Given the description of an element on the screen output the (x, y) to click on. 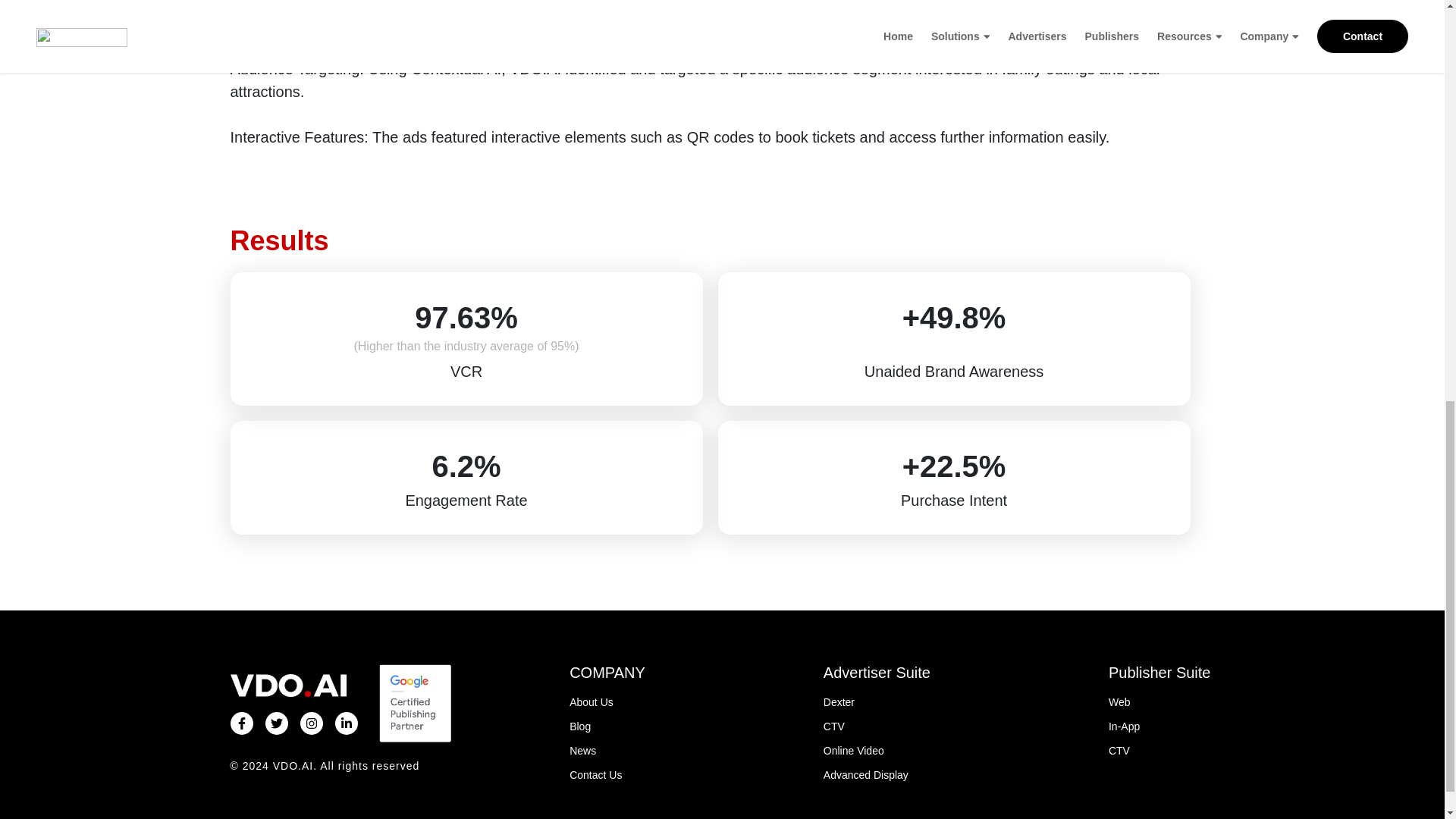
CTV (1159, 750)
News (607, 750)
About Us (607, 701)
In-App (1159, 726)
CTV (877, 726)
Dexter (877, 701)
Advanced Display (877, 774)
Blog (607, 726)
Contact Us (607, 774)
Web (1159, 701)
